Given the description of an element on the screen output the (x, y) to click on. 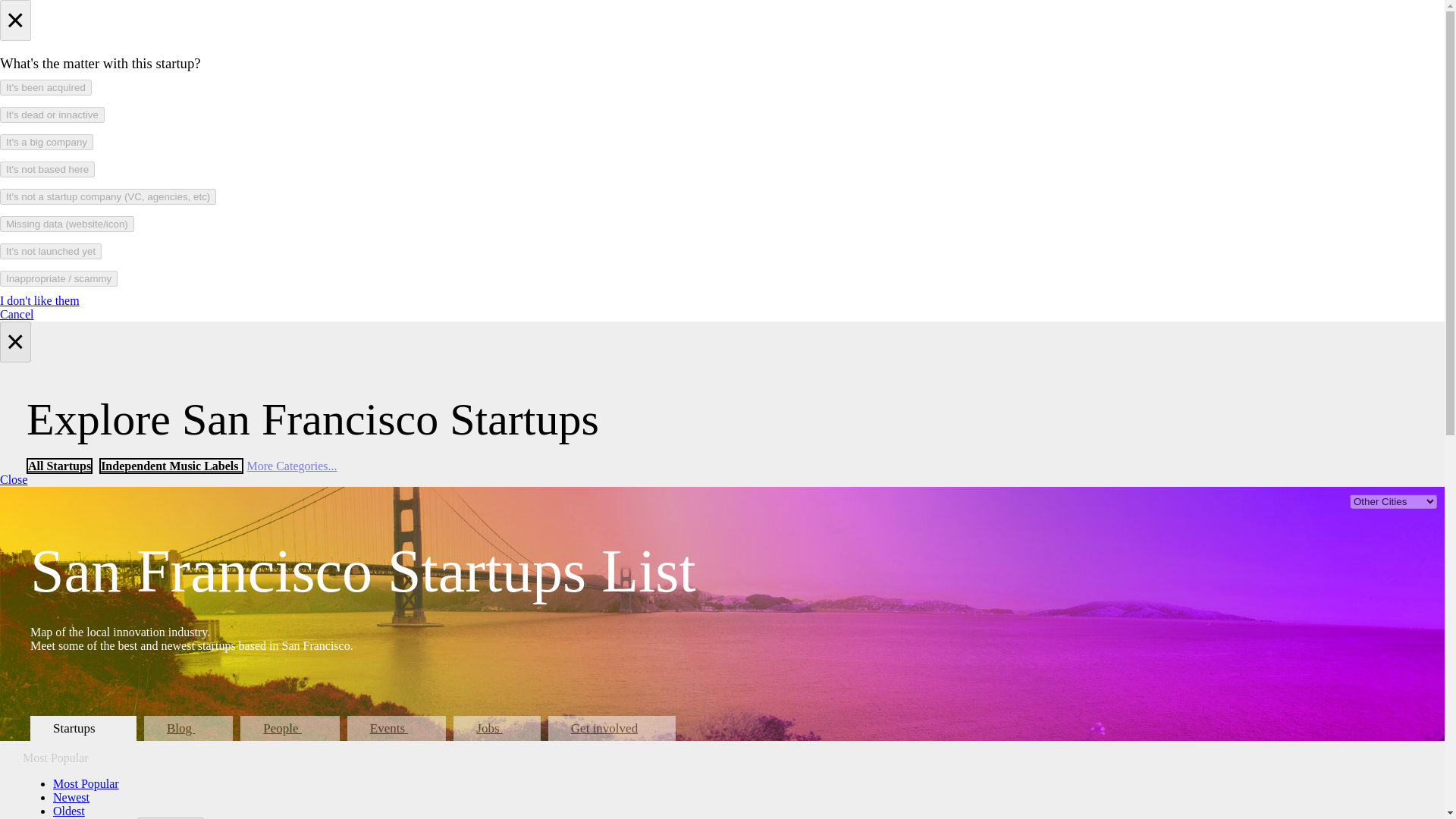
I don't like them (40, 300)
Close (13, 479)
More Categories... (292, 465)
Cancel (16, 314)
It's not based here (47, 169)
It's been acquired (45, 87)
All Startups (59, 465)
It's a big company (46, 141)
It's dead or innactive (52, 114)
Independent Music Labels (171, 465)
It's not launched yet (50, 251)
